Given the description of an element on the screen output the (x, y) to click on. 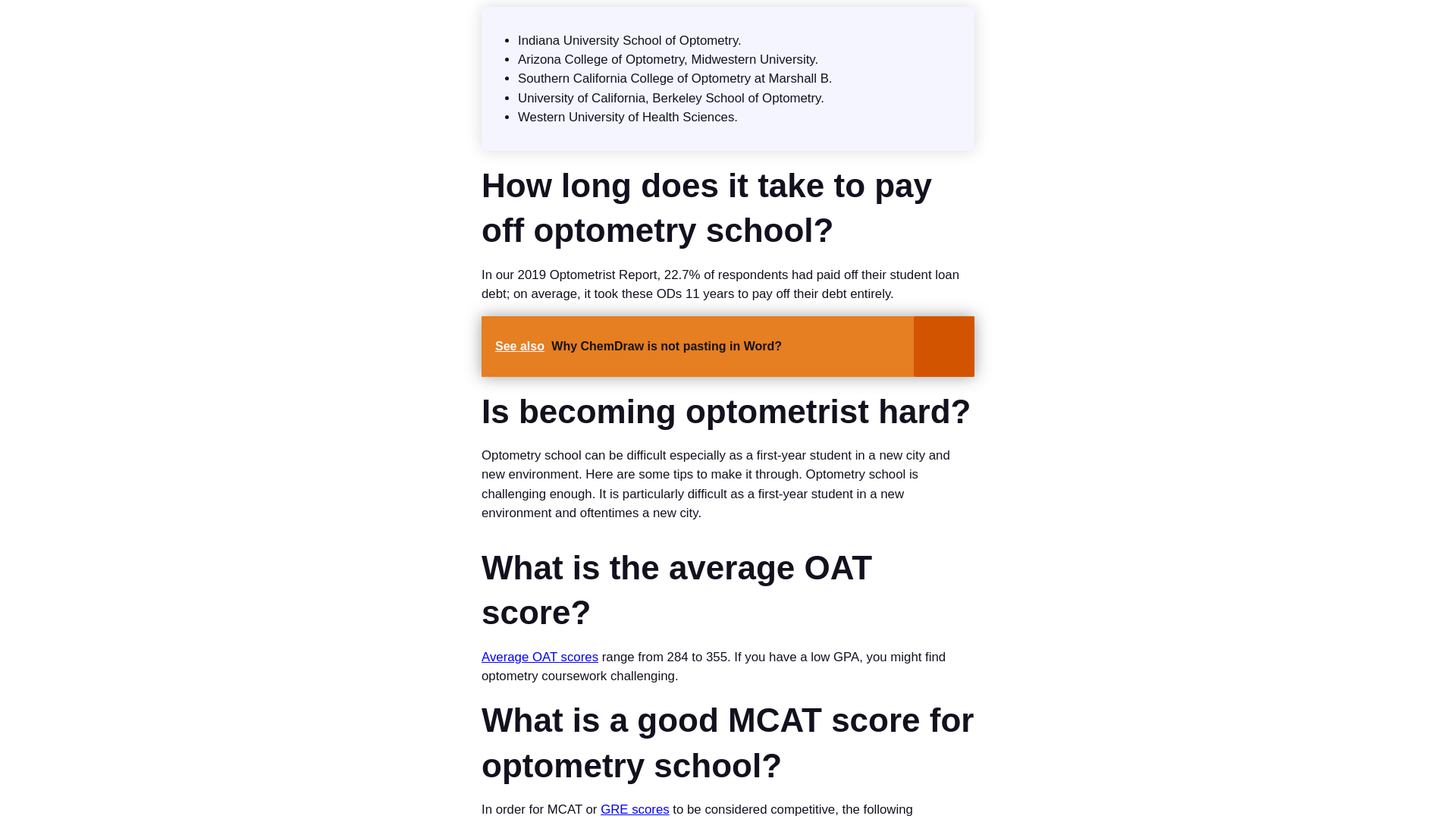
See also  Why ChemDraw is not pasting in Word? (727, 346)
